Given the description of an element on the screen output the (x, y) to click on. 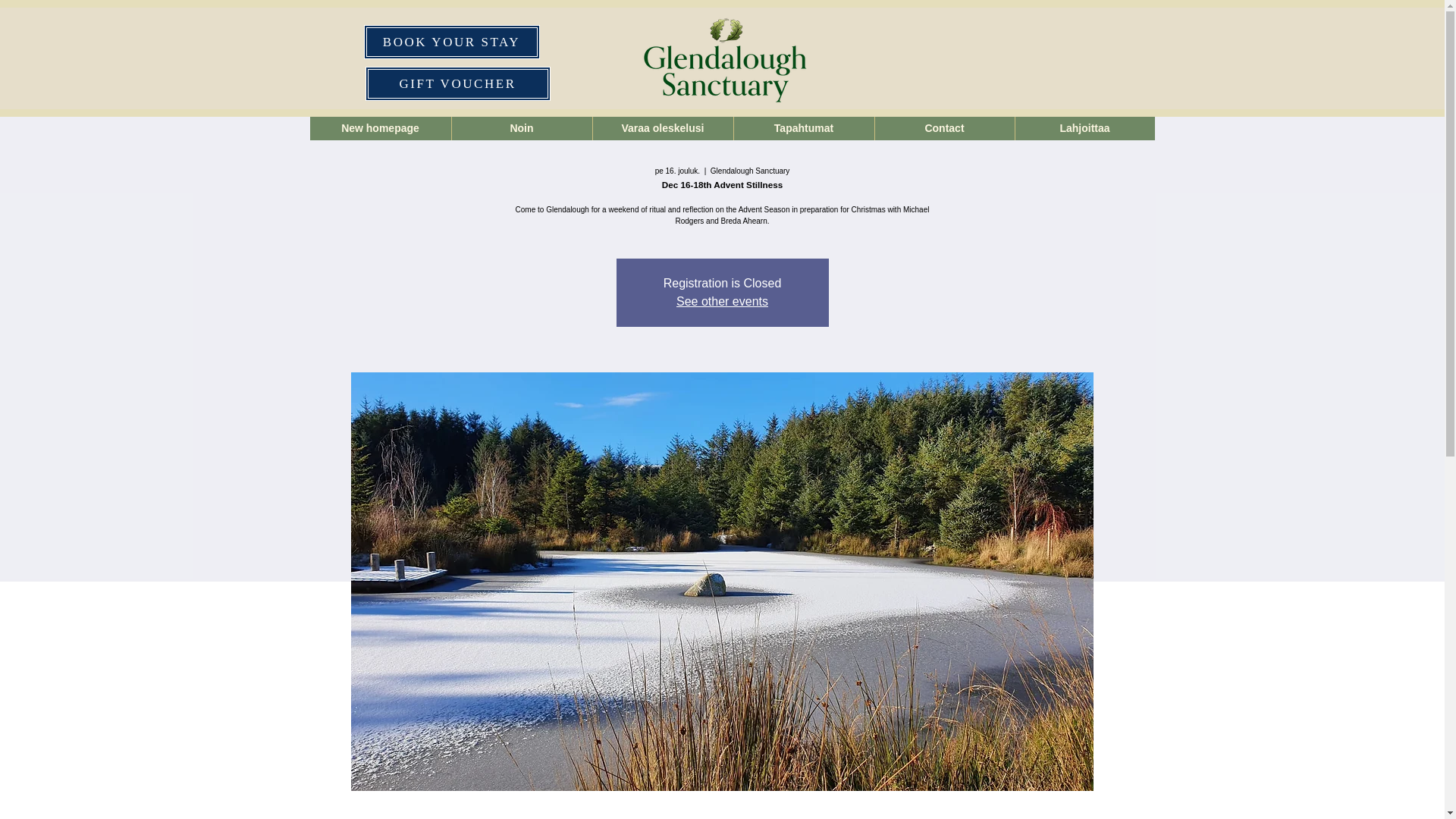
Noin (520, 128)
Contact (943, 128)
See other events (722, 300)
BOOK YOUR STAY (452, 41)
GIFT VOUCHER (457, 83)
New homepage (378, 128)
Tapahtumat (802, 128)
Varaa oleskelusi (661, 128)
Lahjoittaa (1084, 128)
